Given the description of an element on the screen output the (x, y) to click on. 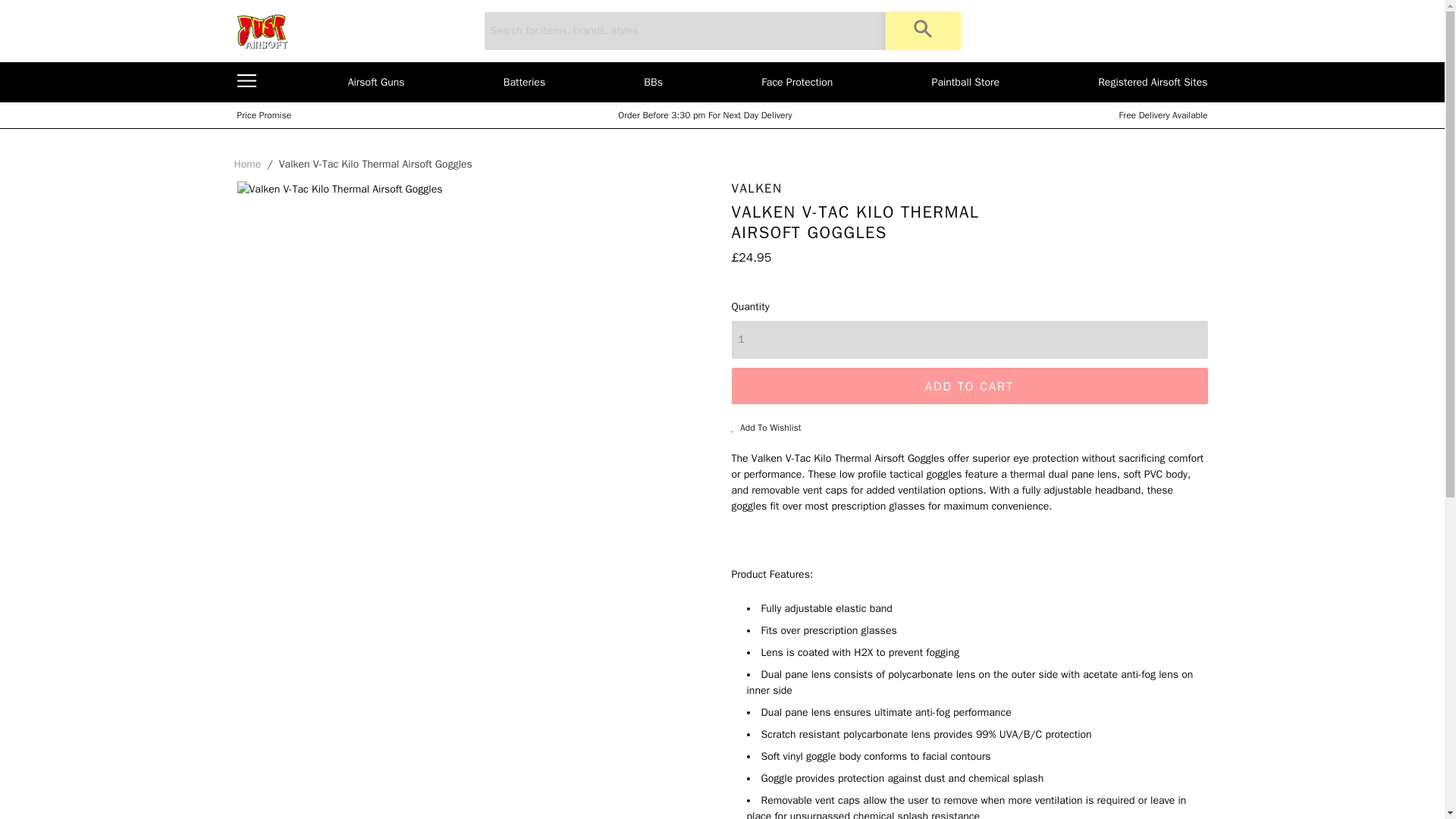
Home (246, 164)
1 (968, 339)
